Given the description of an element on the screen output the (x, y) to click on. 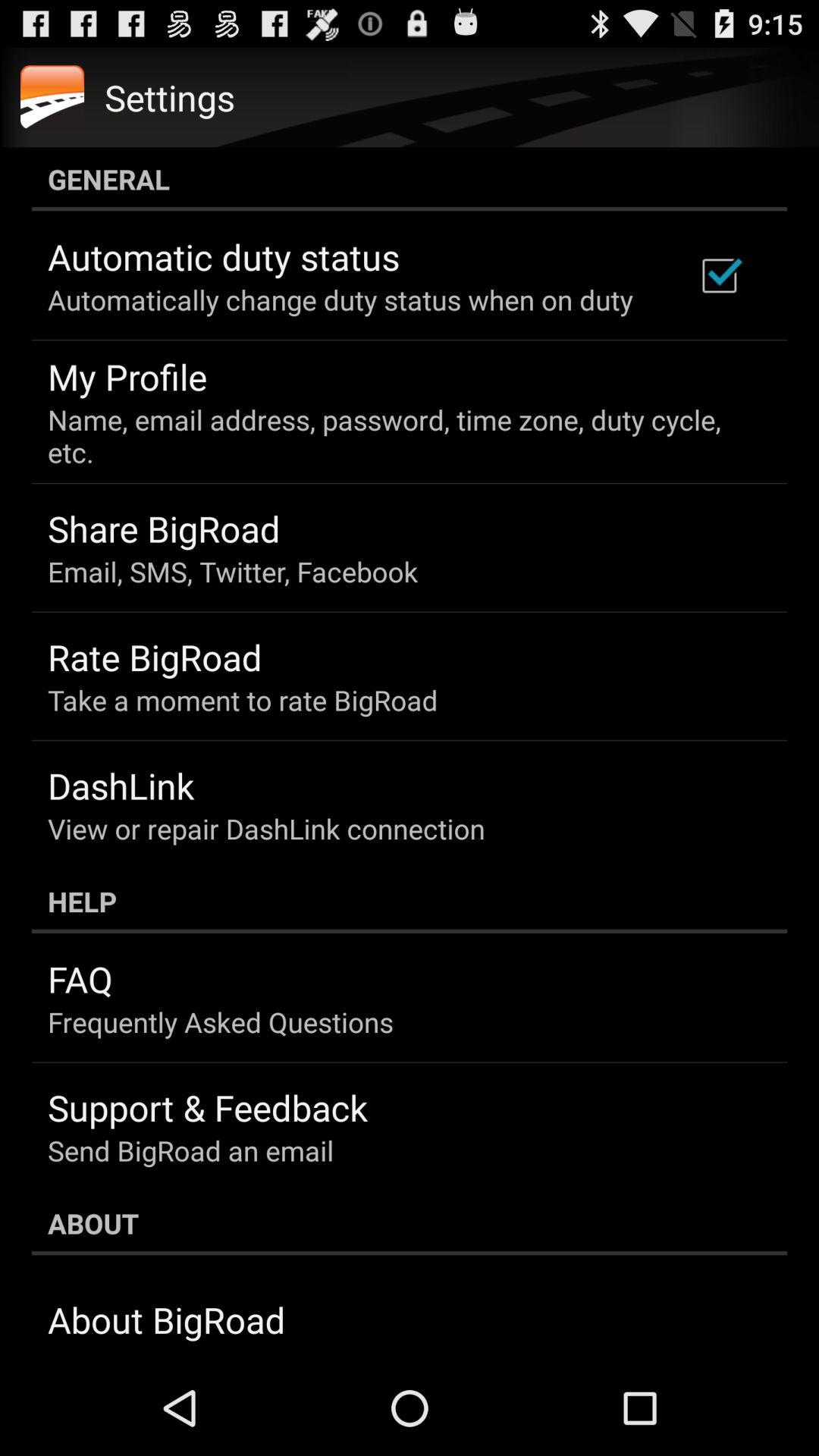
flip until frequently asked questions (220, 1021)
